Given the description of an element on the screen output the (x, y) to click on. 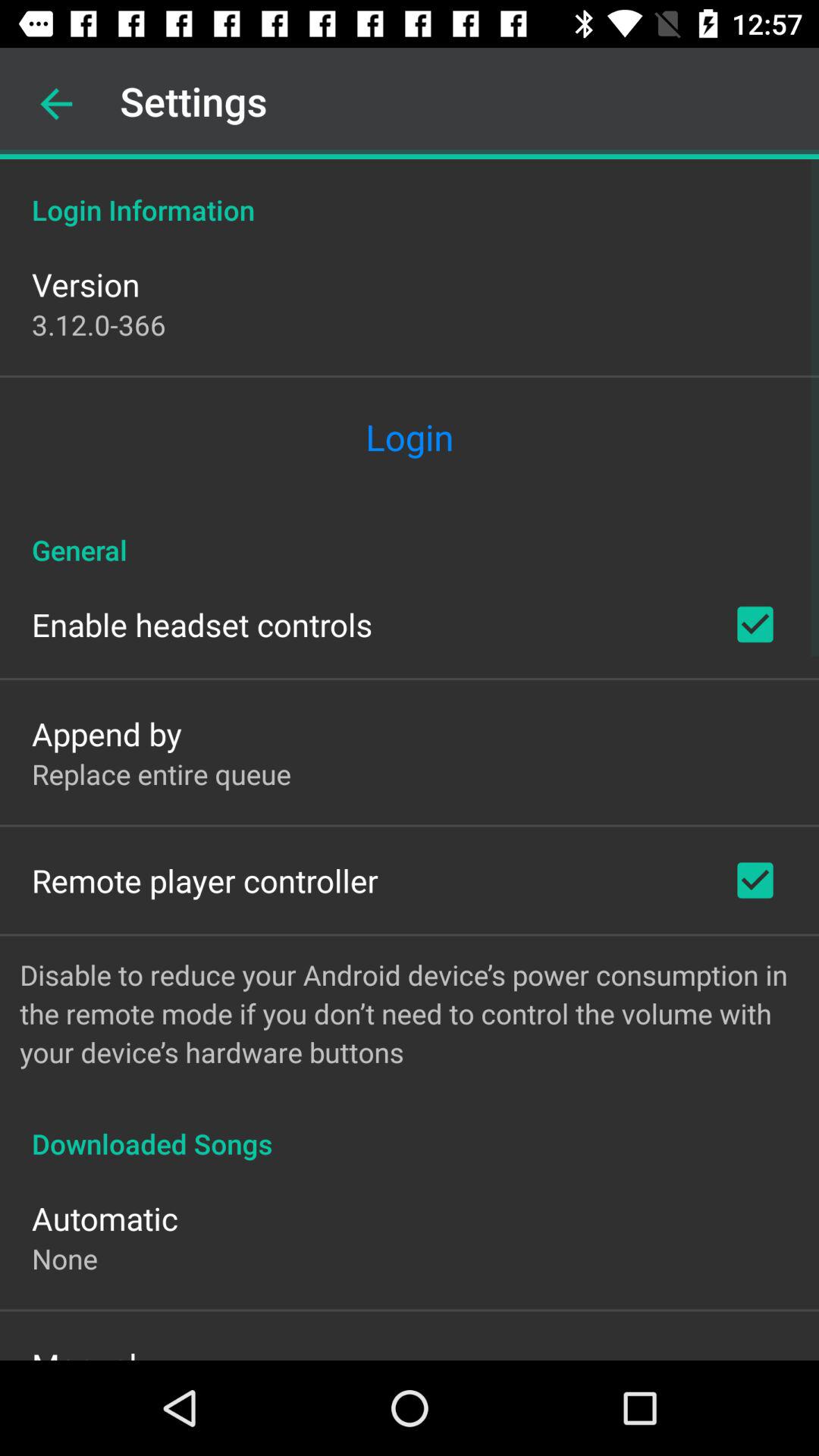
turn off remote player controller item (204, 880)
